Given the description of an element on the screen output the (x, y) to click on. 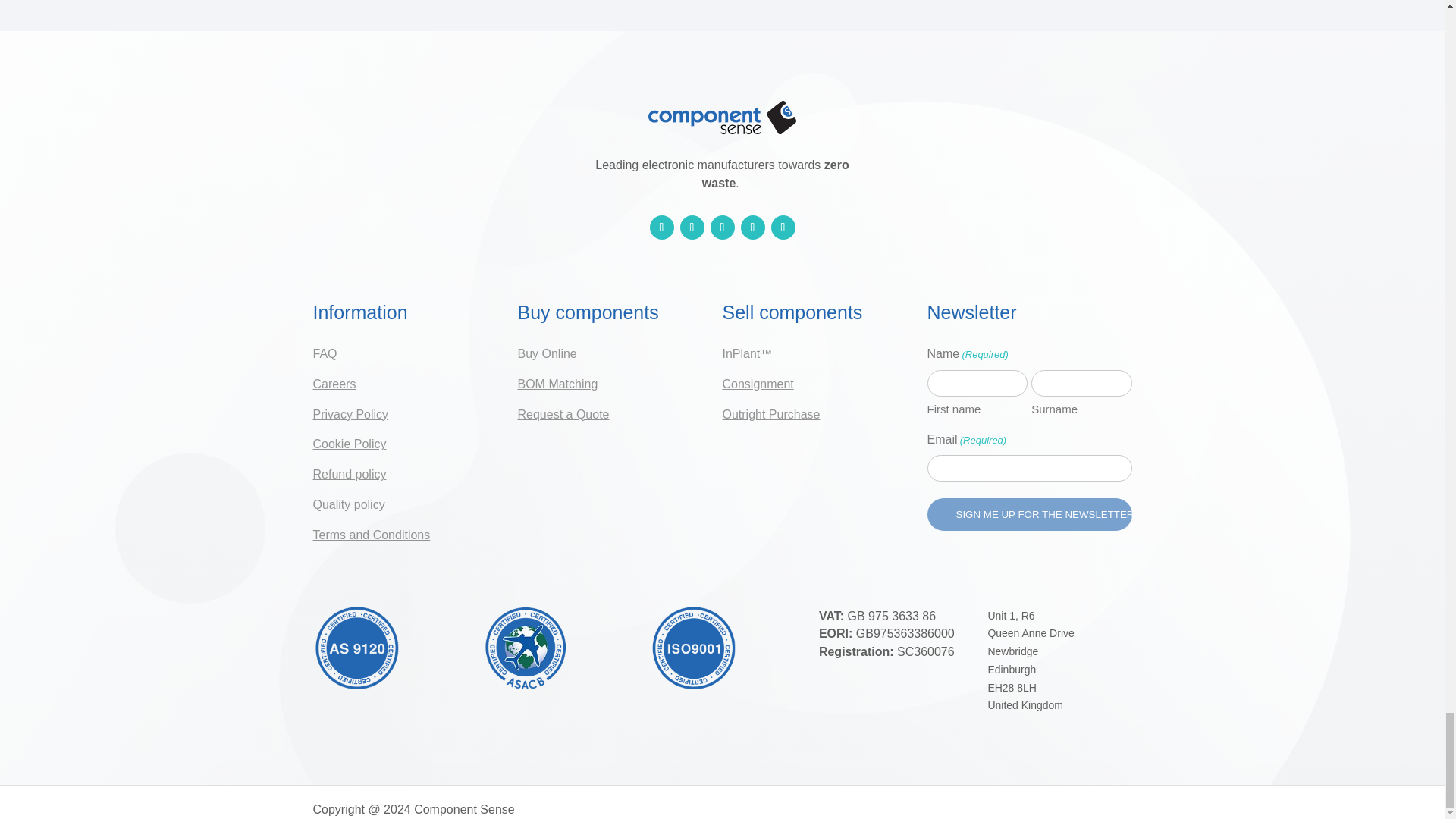
Component Sense Logo (720, 117)
Follow on LinkedIn (660, 227)
Sign me up for the newsletter (1028, 513)
